Given the description of an element on the screen output the (x, y) to click on. 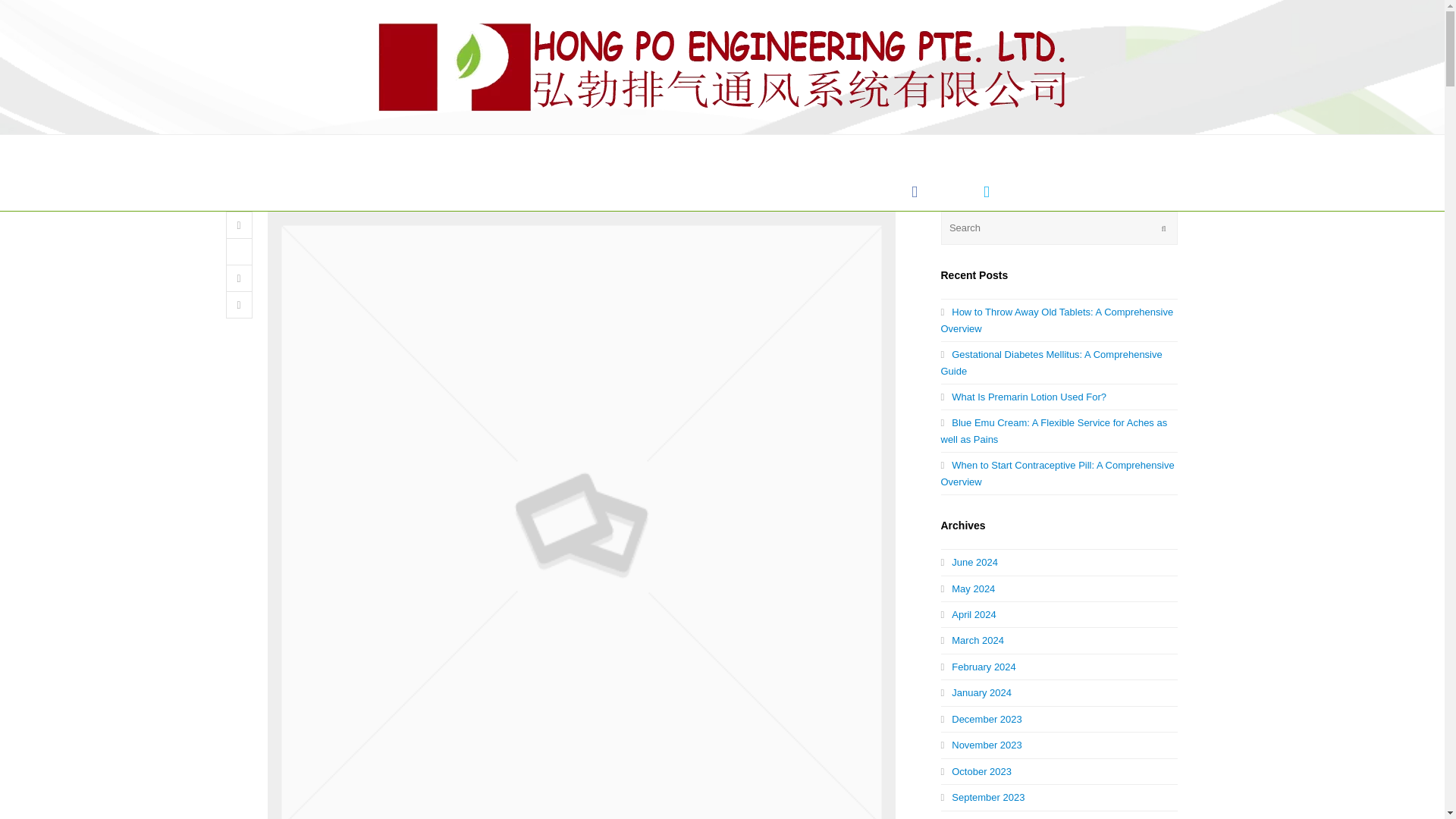
CONTACT (854, 191)
Gestational Diabetes Mellitus: A Comprehensive Guide (1050, 361)
Share on Pinterest (238, 304)
April 2024 (967, 614)
June 2024 (968, 562)
January 2024 (975, 692)
What Is Premarin Lotion Used For? (1023, 396)
February 2024 (977, 666)
ABOUT (443, 191)
When to Start Contraceptive Pill: A Comprehensive Overview (1056, 472)
PRODUCTS (611, 191)
December 2023 (981, 718)
BLOG (779, 191)
Hong Po Engineering Pte. Ltd. (721, 66)
